Given the description of an element on the screen output the (x, y) to click on. 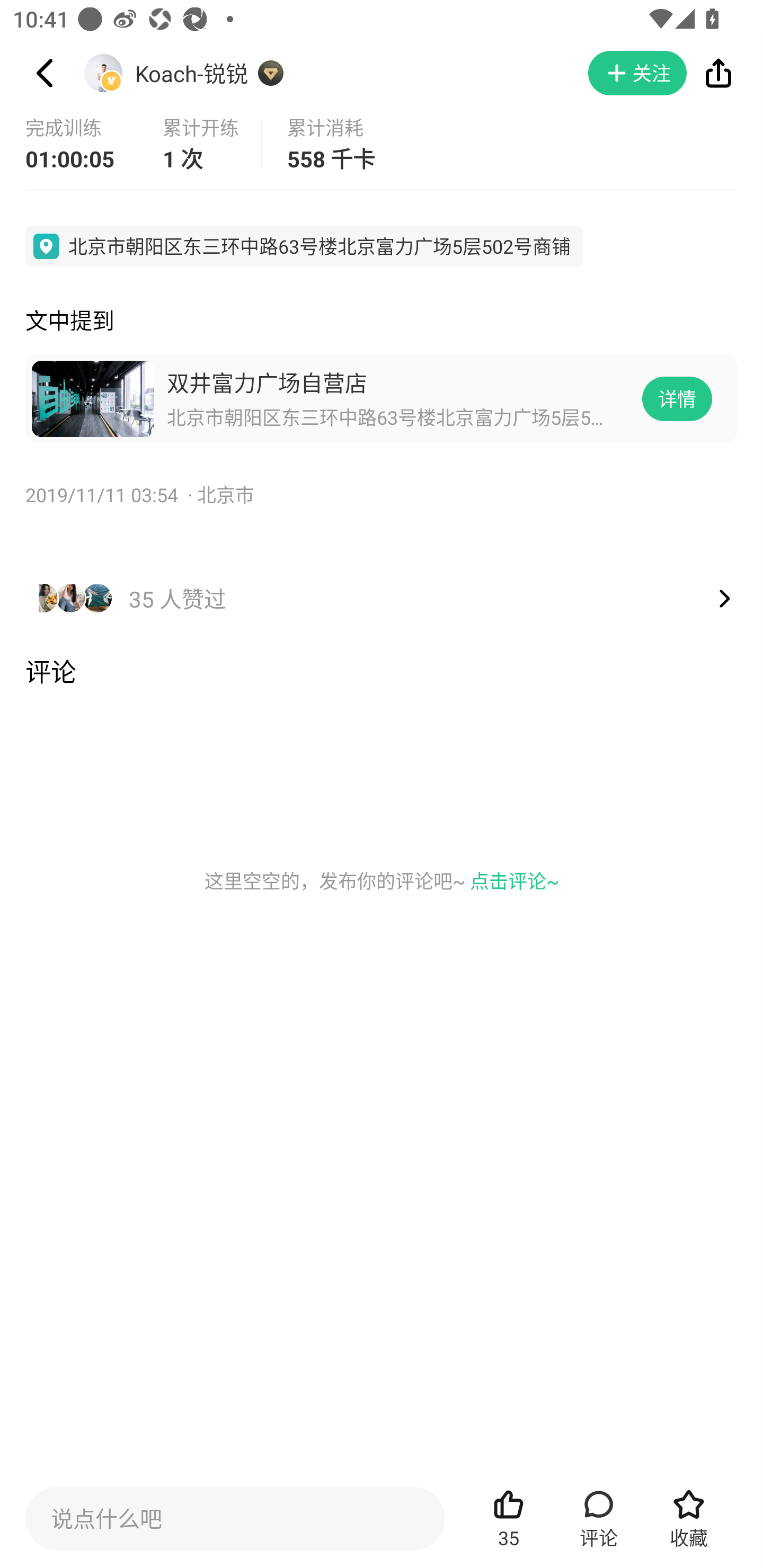
关注 (637, 72)
Koach-锐锐 (191, 72)
完成训练 01:00:05 累计开练 1 次 累计消耗 558 千卡 (381, 144)
北京市朝阳区东三环中路63号楼北京富力广场5层502号商铺 (304, 245)
双井富力广场自营店 北京市朝阳区东三环中路63号楼北京富力广场5层502号商铺 详情 (381, 398)
35 人赞过 (381, 579)
这里空空的，发布你的评论吧~ 点击评论~ (381, 880)
35 (508, 1518)
评论 (598, 1518)
收藏 (688, 1518)
说点什么吧 (234, 1518)
